Given the description of an element on the screen output the (x, y) to click on. 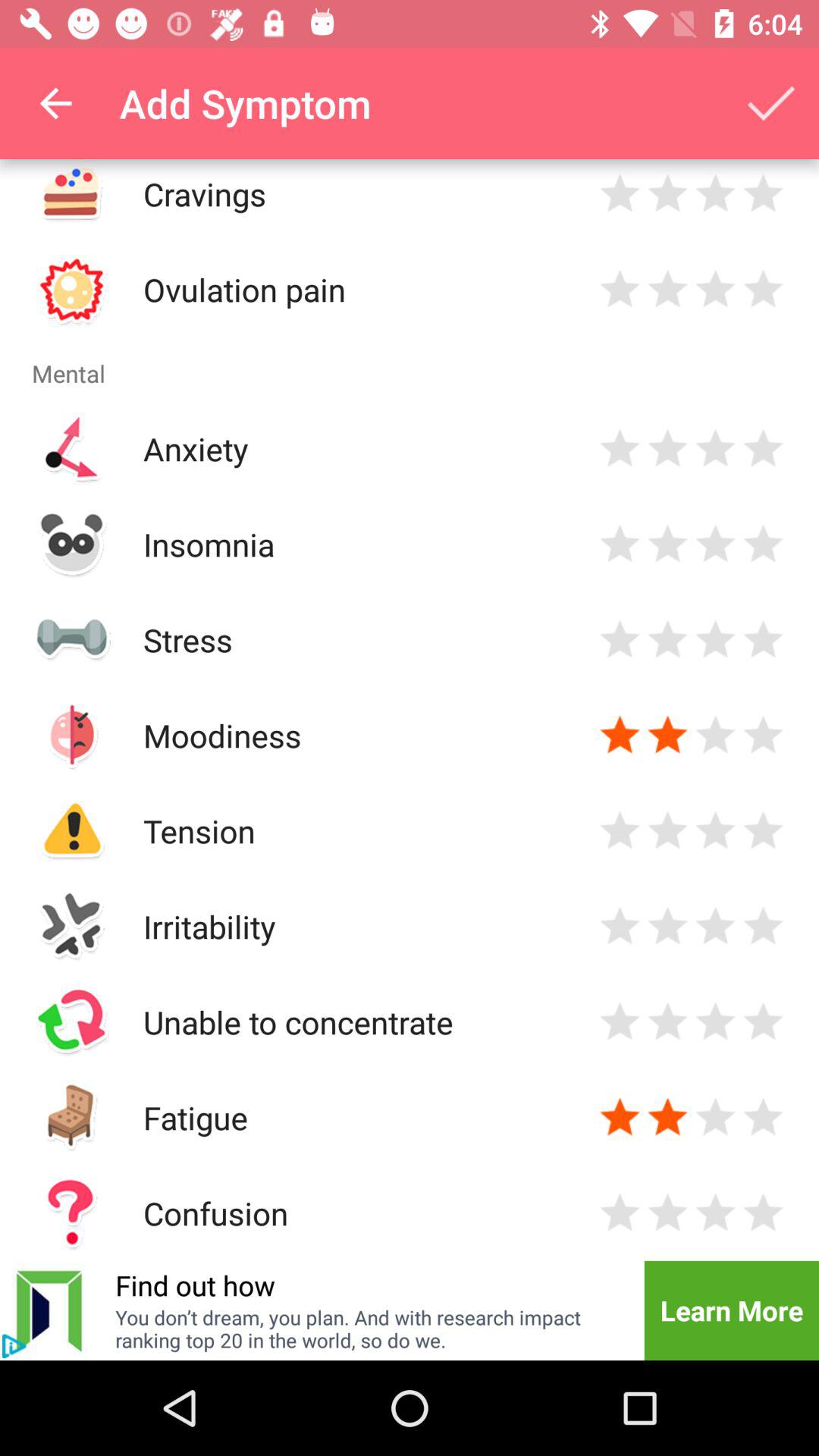
rate 5 stars (763, 926)
